Given the description of an element on the screen output the (x, y) to click on. 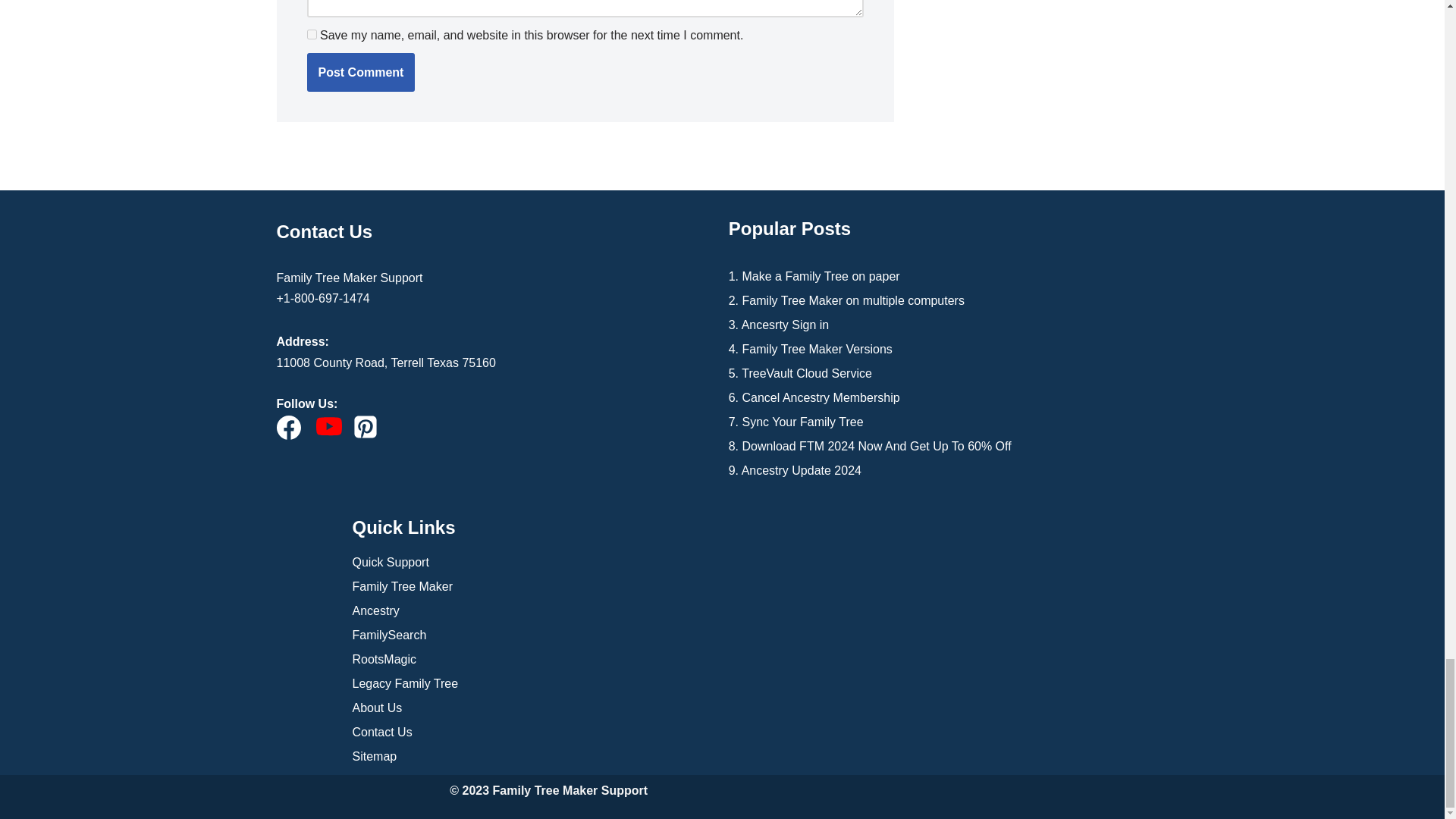
yes (310, 34)
Pinterest (365, 426)
Post Comment (359, 72)
Facebook (287, 427)
